Given the description of an element on the screen output the (x, y) to click on. 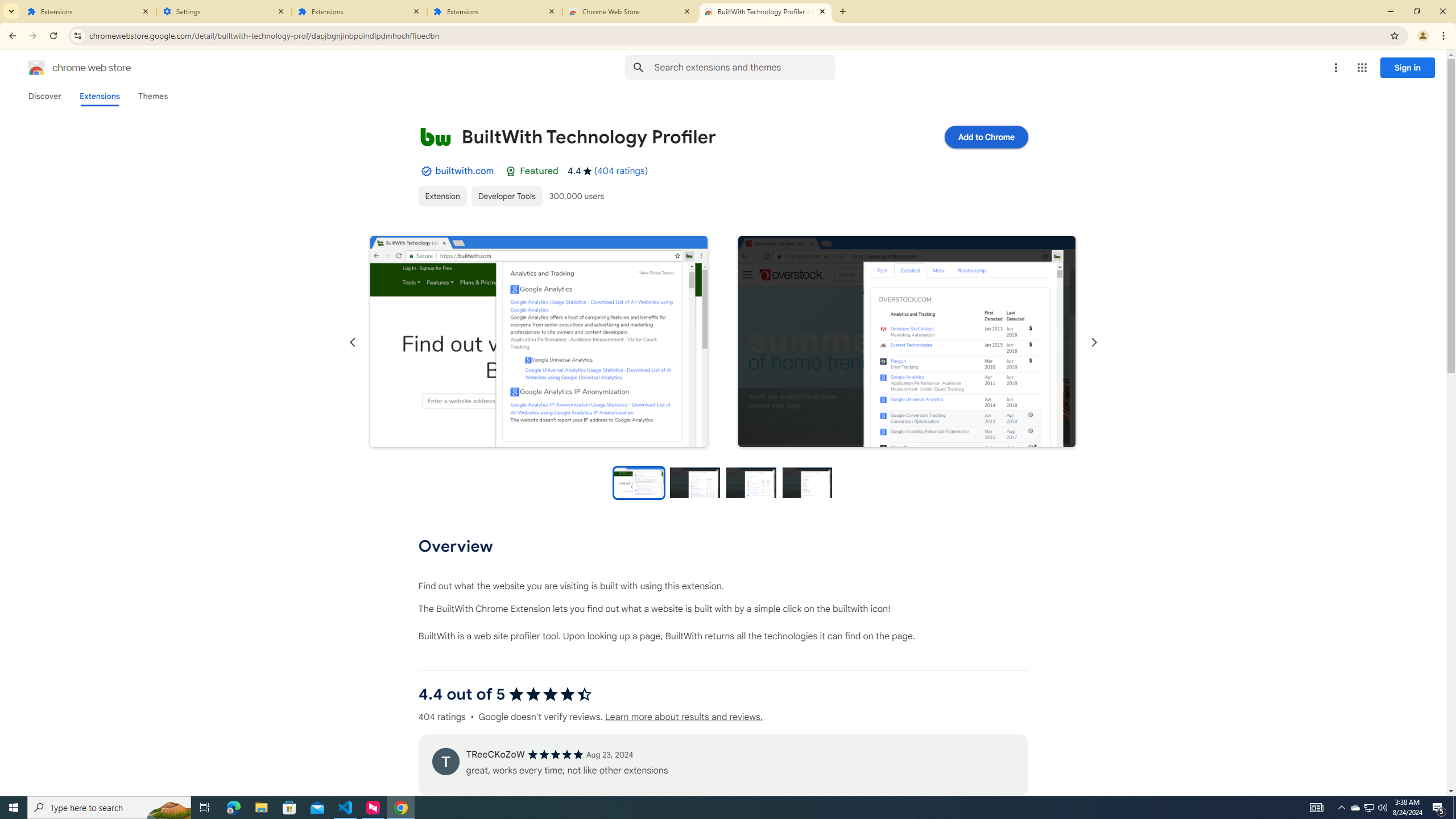
Extensions (99, 95)
Discover (43, 95)
Search input (744, 67)
BuiltWith Technology Profiler - Chrome Web Store (765, 11)
builtwith.com (464, 170)
Featured Badge (510, 170)
Extensions (494, 11)
Themes (152, 95)
Review's profile picture (445, 760)
Preview slide 4 (807, 482)
Chrome Web Store logo (36, 67)
